Given the description of an element on the screen output the (x, y) to click on. 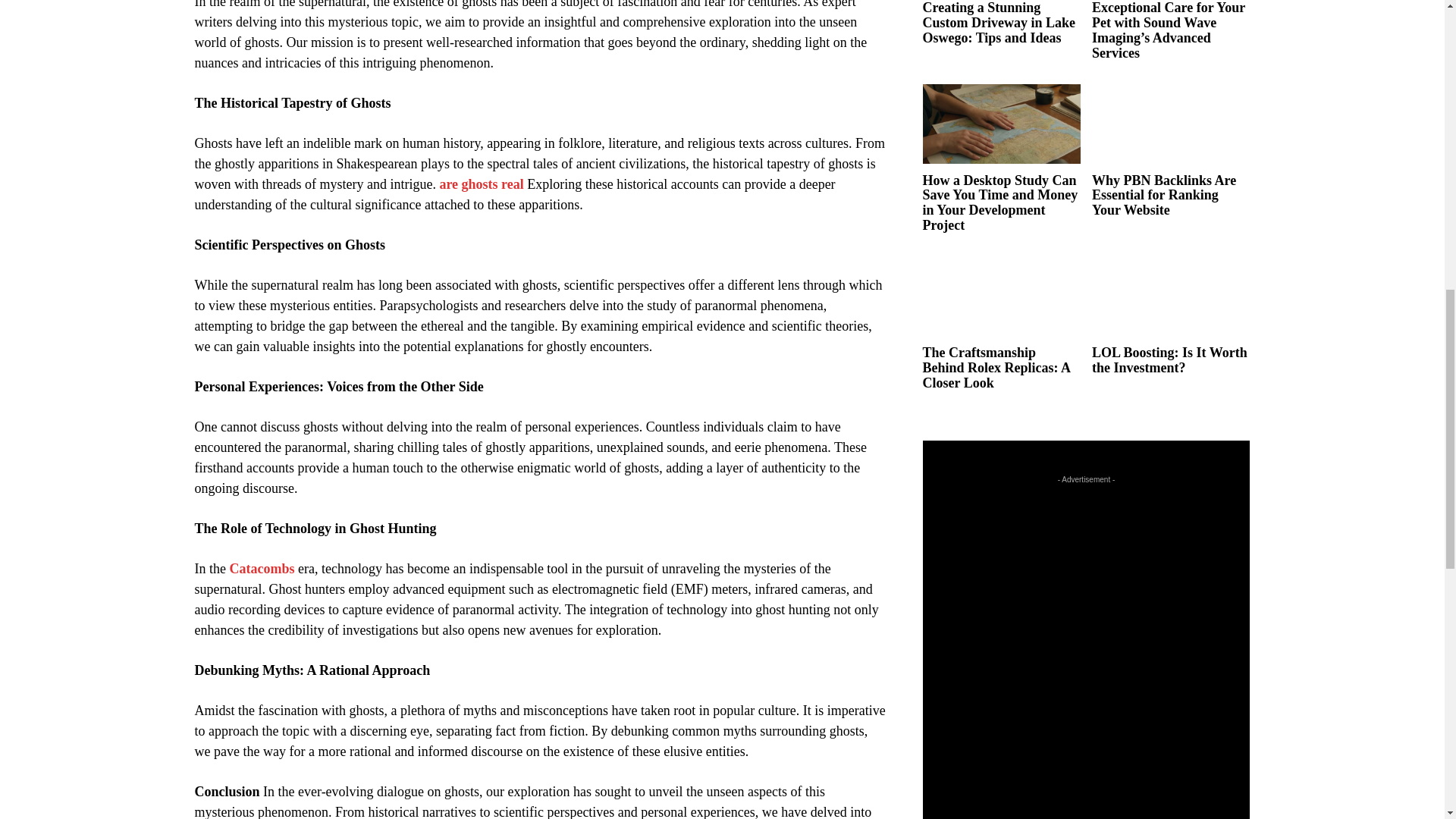
Catacombs (261, 568)
are ghosts real (480, 183)
Why PBN Backlinks Are Essential for Ranking Your Website (1164, 195)
